Given the description of an element on the screen output the (x, y) to click on. 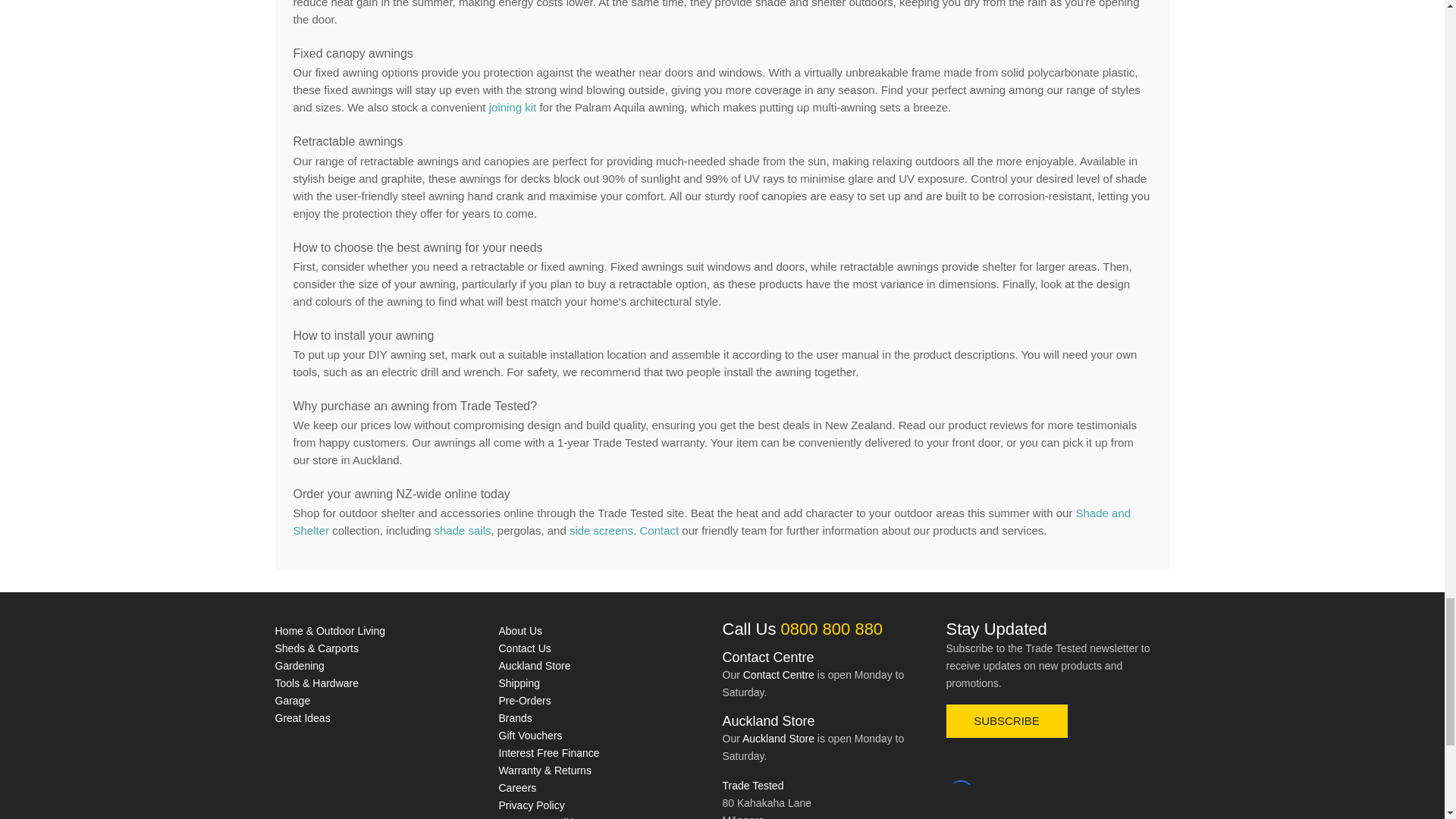
Garage (292, 700)
Google Review Widget (960, 794)
Gardening (299, 665)
Great Ideas (302, 717)
